Given the description of an element on the screen output the (x, y) to click on. 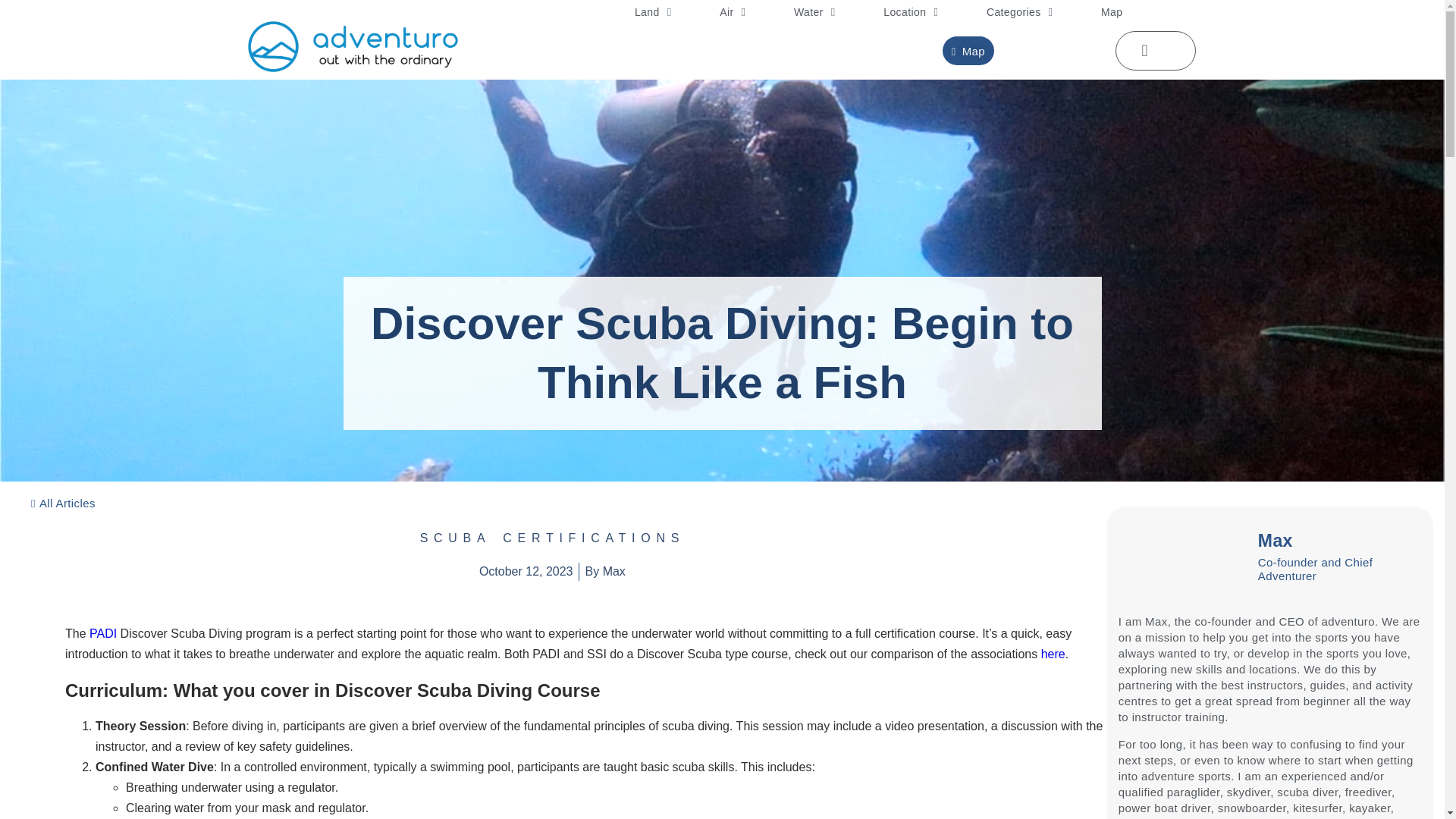
Land (652, 12)
Water (814, 12)
What PADI Course Should You Do? And Other FAQs Answered (102, 633)
How does PADI stack up against SSI and others (1053, 653)
Air (732, 12)
